Given the description of an element on the screen output the (x, y) to click on. 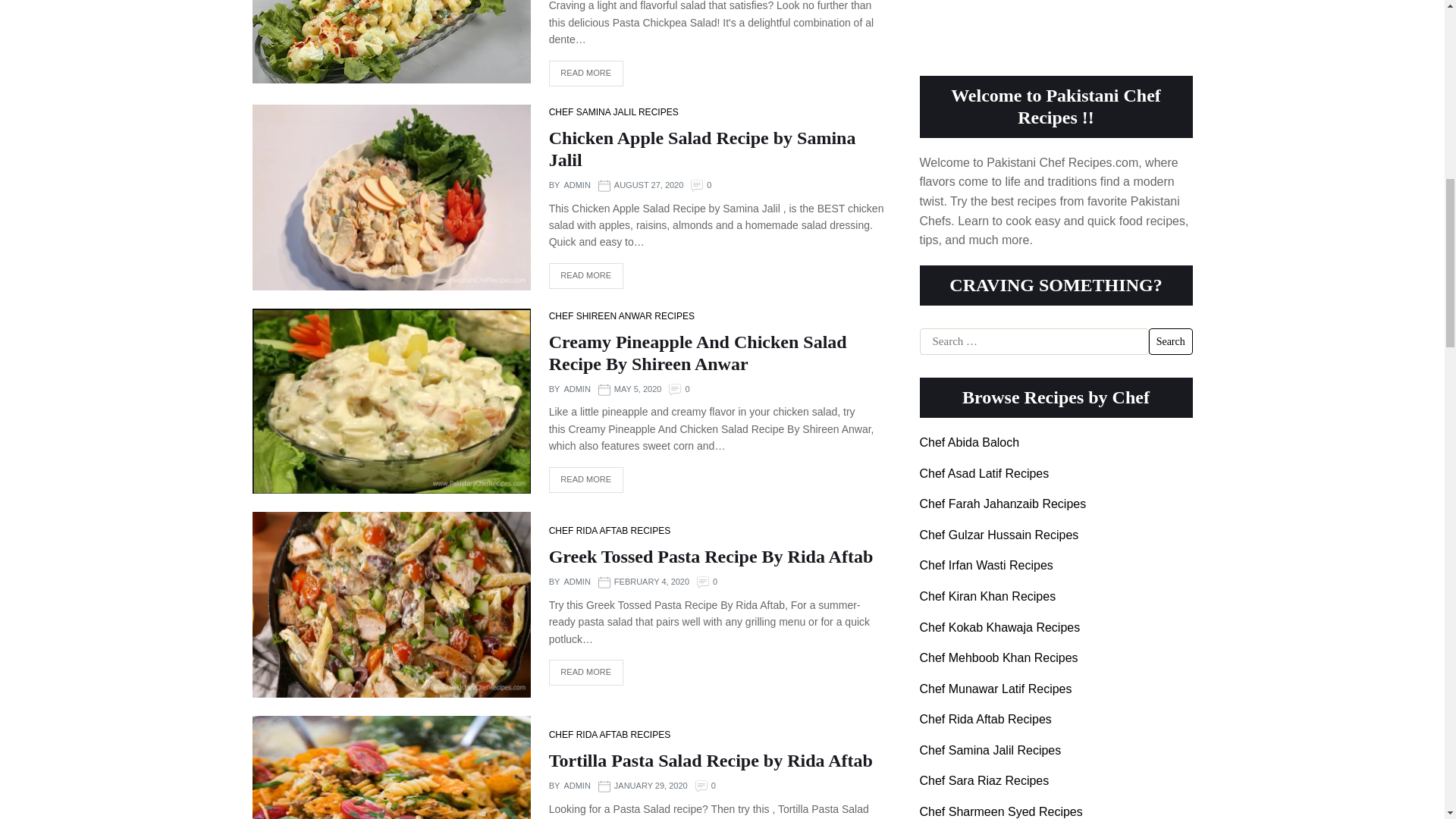
ADMIN (576, 185)
0 (708, 185)
CHEF SAMINA JALIL RECIPES (613, 112)
Chicken Apple Salad Recipe by Samina Jalil (702, 148)
READ MORE (585, 73)
